Given the description of an element on the screen output the (x, y) to click on. 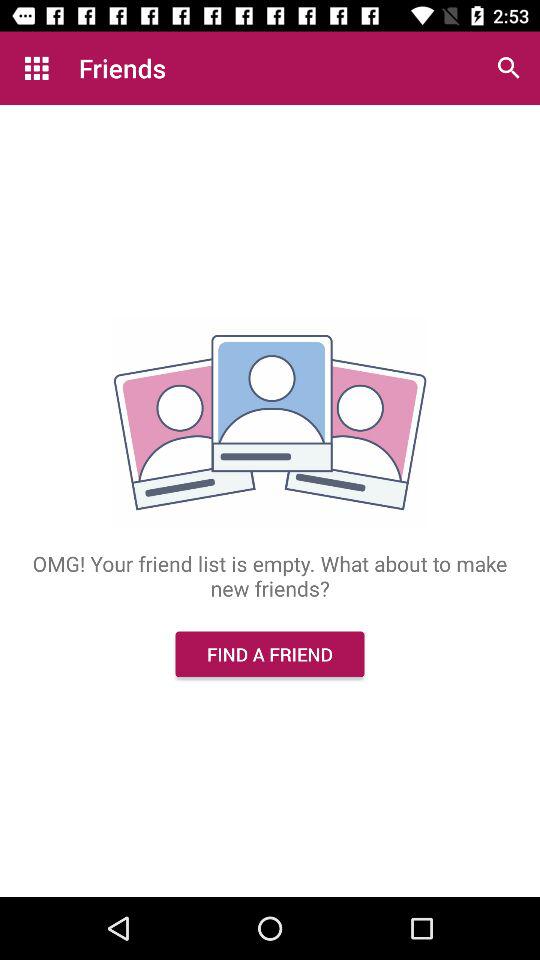
open item at the top right corner (508, 67)
